Given the description of an element on the screen output the (x, y) to click on. 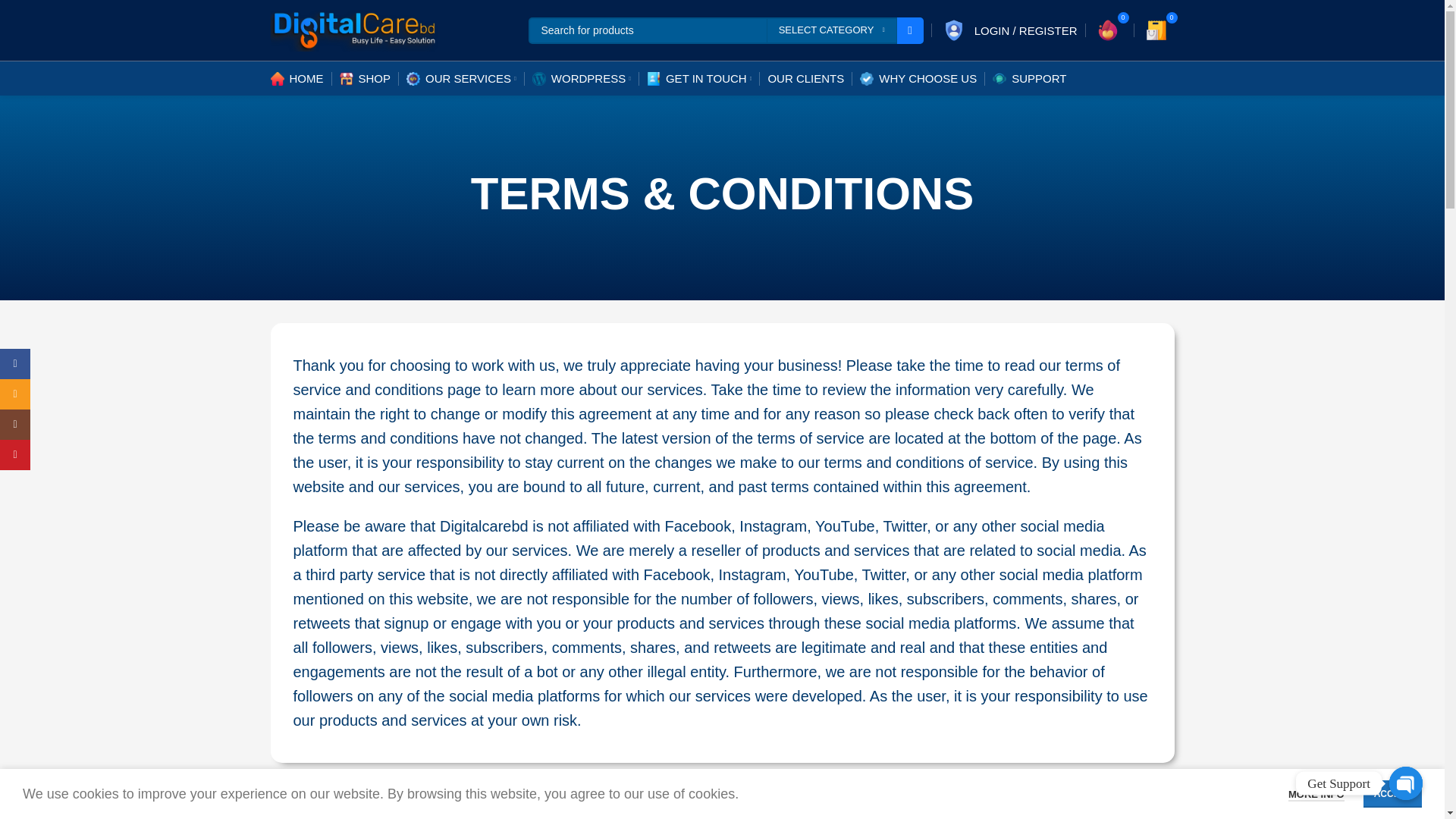
Search for products (725, 29)
0 (1107, 30)
SELECT CATEGORY (831, 29)
SELECT CATEGORY (831, 29)
HOME (296, 78)
OUR SERVICES (461, 78)
My Wishlist (1107, 30)
SEARCH (909, 29)
0 (1155, 30)
My account (1007, 30)
Shopping cart (1155, 30)
SHOP (365, 78)
